Given the description of an element on the screen output the (x, y) to click on. 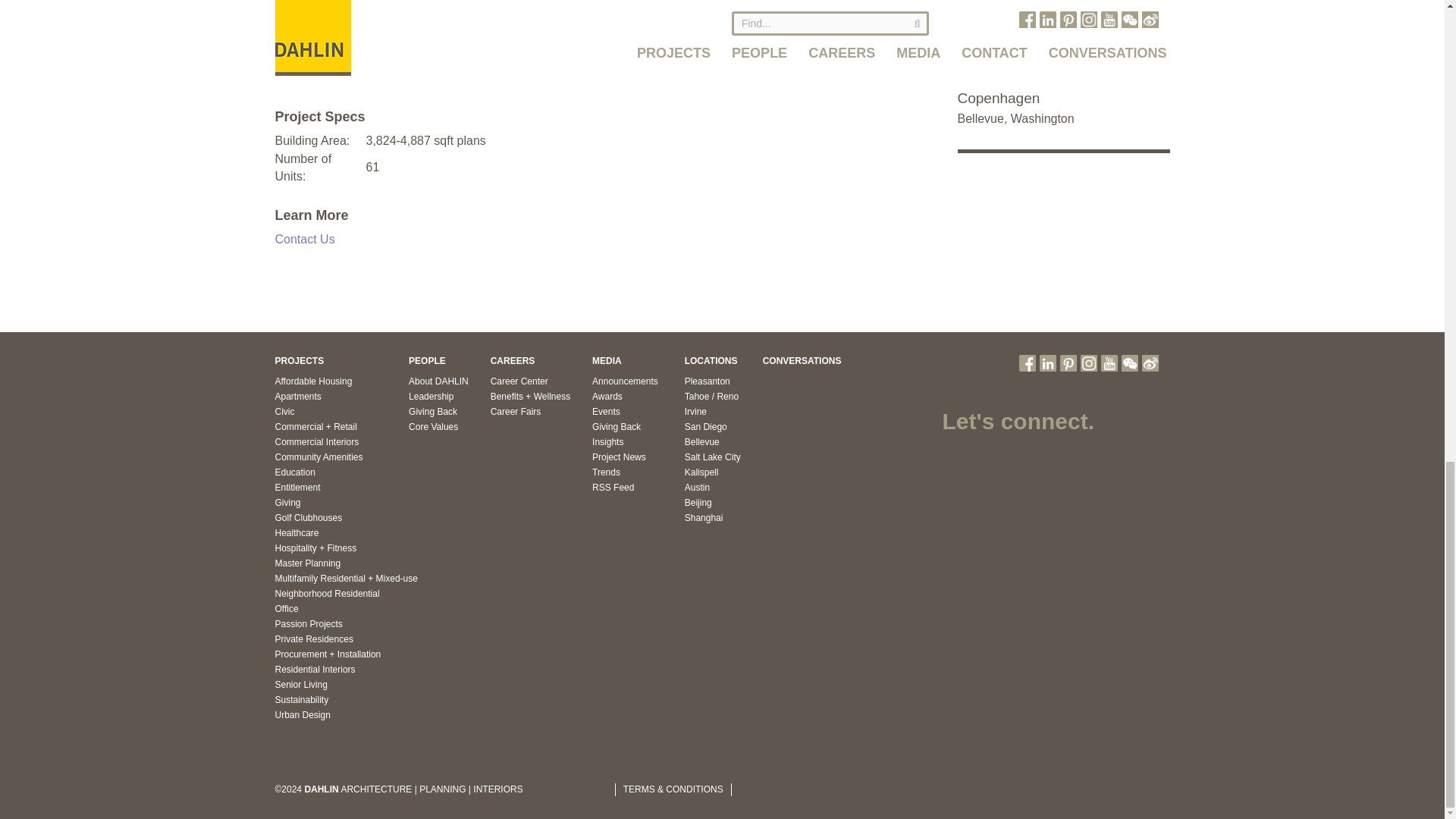
Community Amenities (318, 457)
Entitlement (297, 487)
Education (294, 471)
LinkedIn (1047, 362)
Healthcare (296, 532)
Civic (284, 411)
PROJECTS (299, 360)
Contact Us (304, 238)
Pinterest (1068, 362)
YouTube (1109, 362)
Master Planning (307, 562)
WeChat (1129, 362)
Instagram (1088, 362)
Golf Clubhouses (308, 517)
Apartments (297, 396)
